Given the description of an element on the screen output the (x, y) to click on. 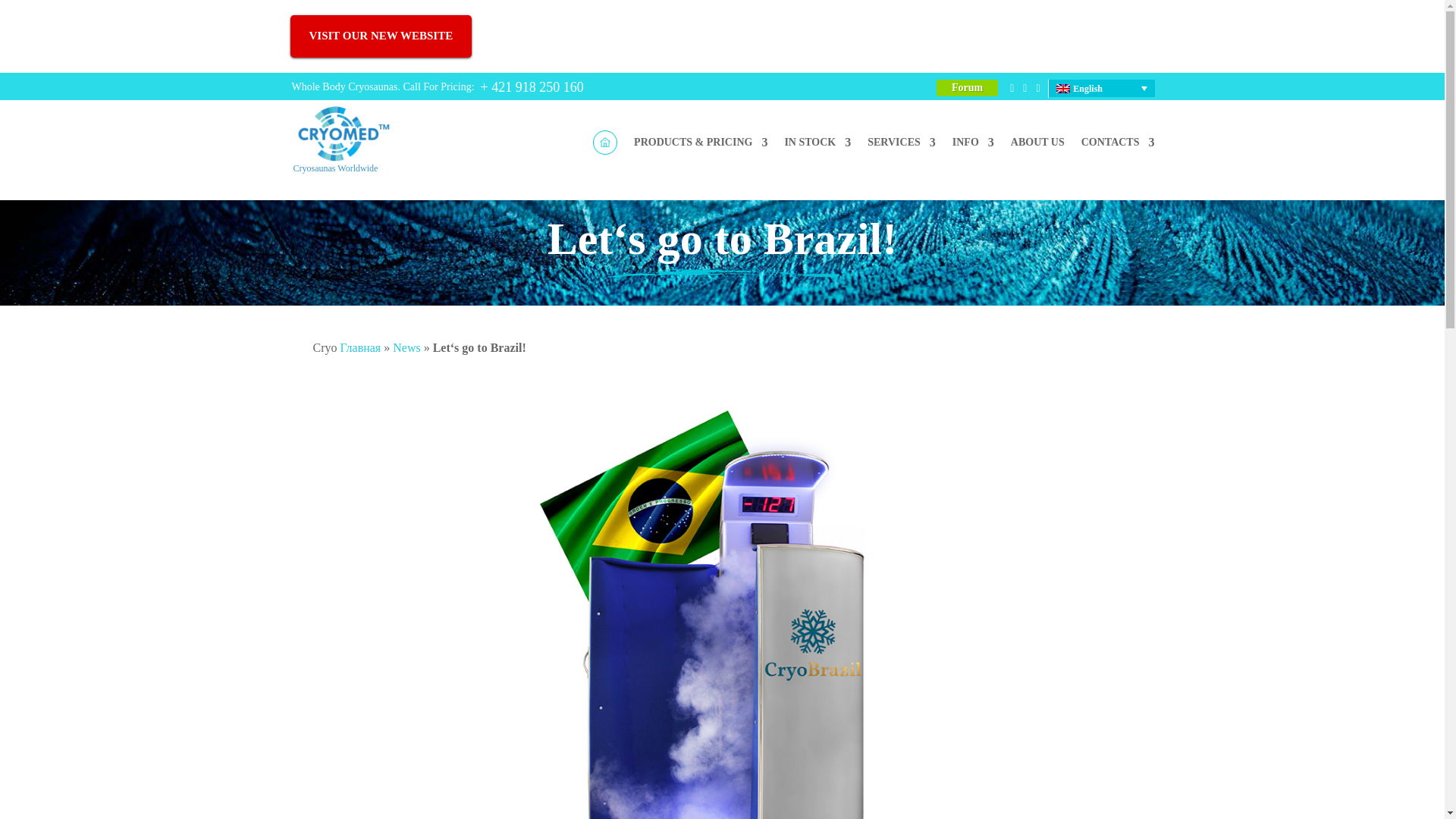
VISIT OUR NEW WEBSITE (380, 36)
Cryotherapy Forum (967, 87)
CRYOSAUNAS PRICING (700, 144)
English (1101, 87)
Forum (967, 87)
